Given the description of an element on the screen output the (x, y) to click on. 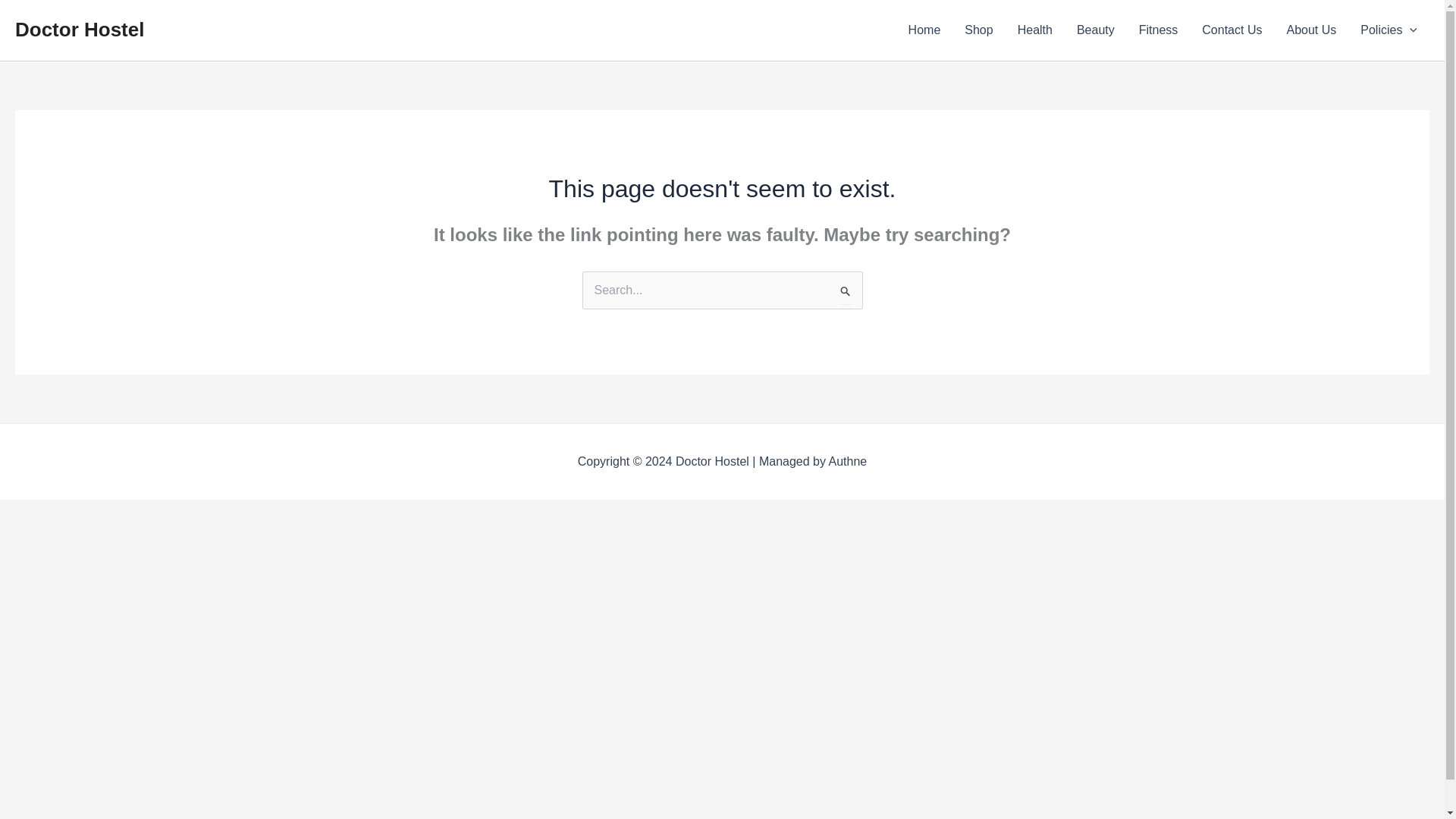
Fitness (1158, 30)
About Us (1311, 30)
Health (1035, 30)
Home (924, 30)
Policies (1388, 30)
Doctor Hostel (79, 29)
Beauty (1095, 30)
Contact Us (1231, 30)
